Given the description of an element on the screen output the (x, y) to click on. 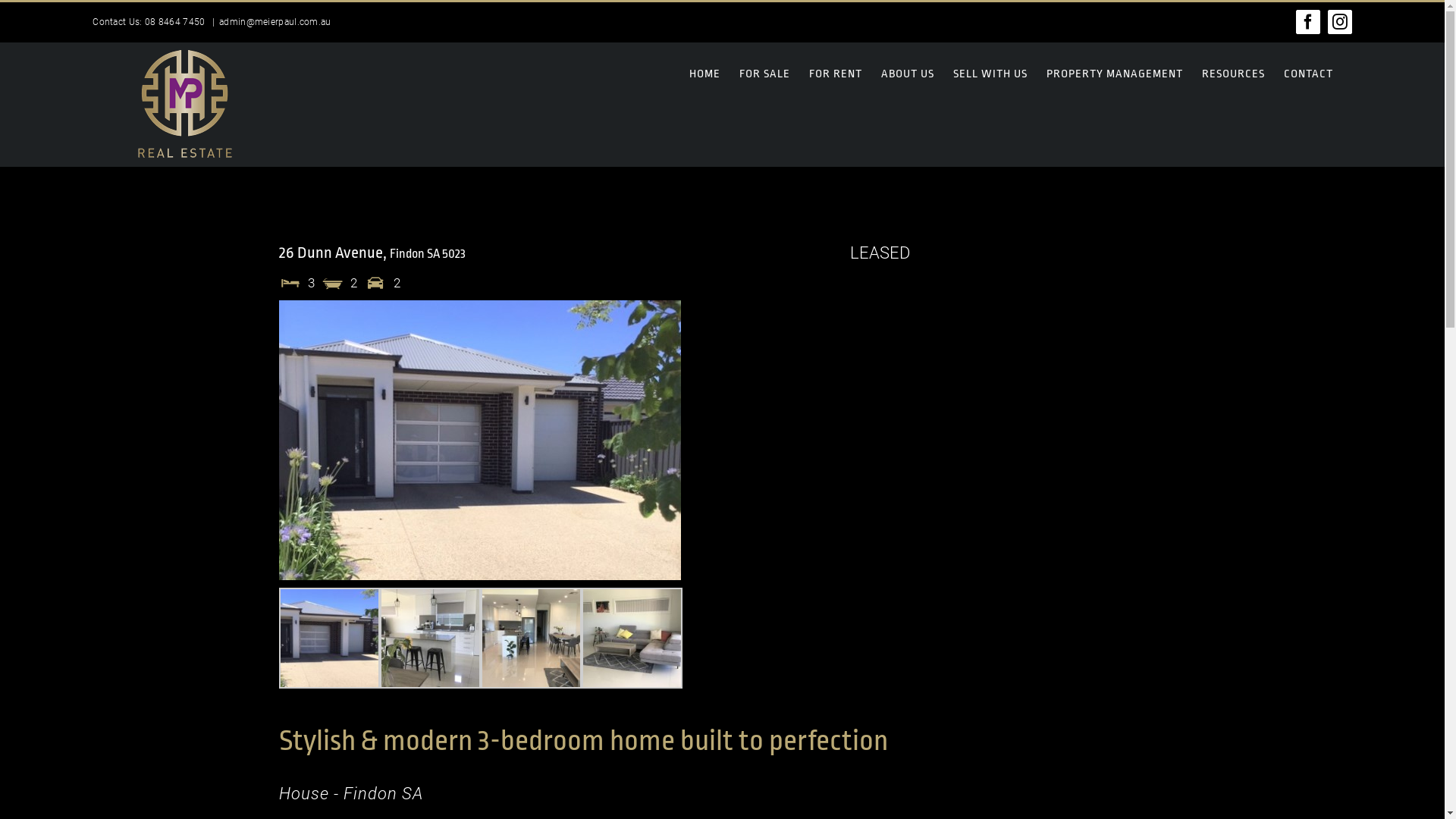
Facebook Element type: text (1307, 21)
RESOURCES Element type: text (1232, 74)
FOR SALE Element type: text (764, 74)
CONTACT Element type: text (1308, 74)
Bathrooms Element type: hover (332, 282)
PROPERTY MANAGEMENT Element type: text (1114, 74)
Parking Spaces Element type: hover (375, 282)
HOME Element type: text (704, 74)
admin@meierpaul.com.au Element type: text (275, 21)
Bedrooms Element type: hover (290, 282)
FOR RENT Element type: text (835, 74)
SELL WITH US Element type: text (990, 74)
Instagram Element type: text (1339, 21)
ABOUT US Element type: text (907, 74)
